Given the description of an element on the screen output the (x, y) to click on. 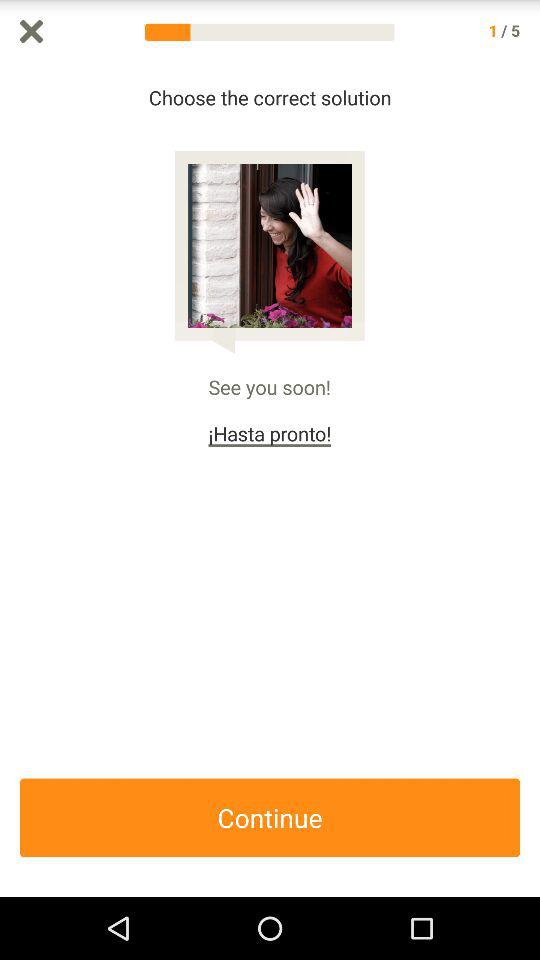
scroll up or down (530, 480)
